Given the description of an element on the screen output the (x, y) to click on. 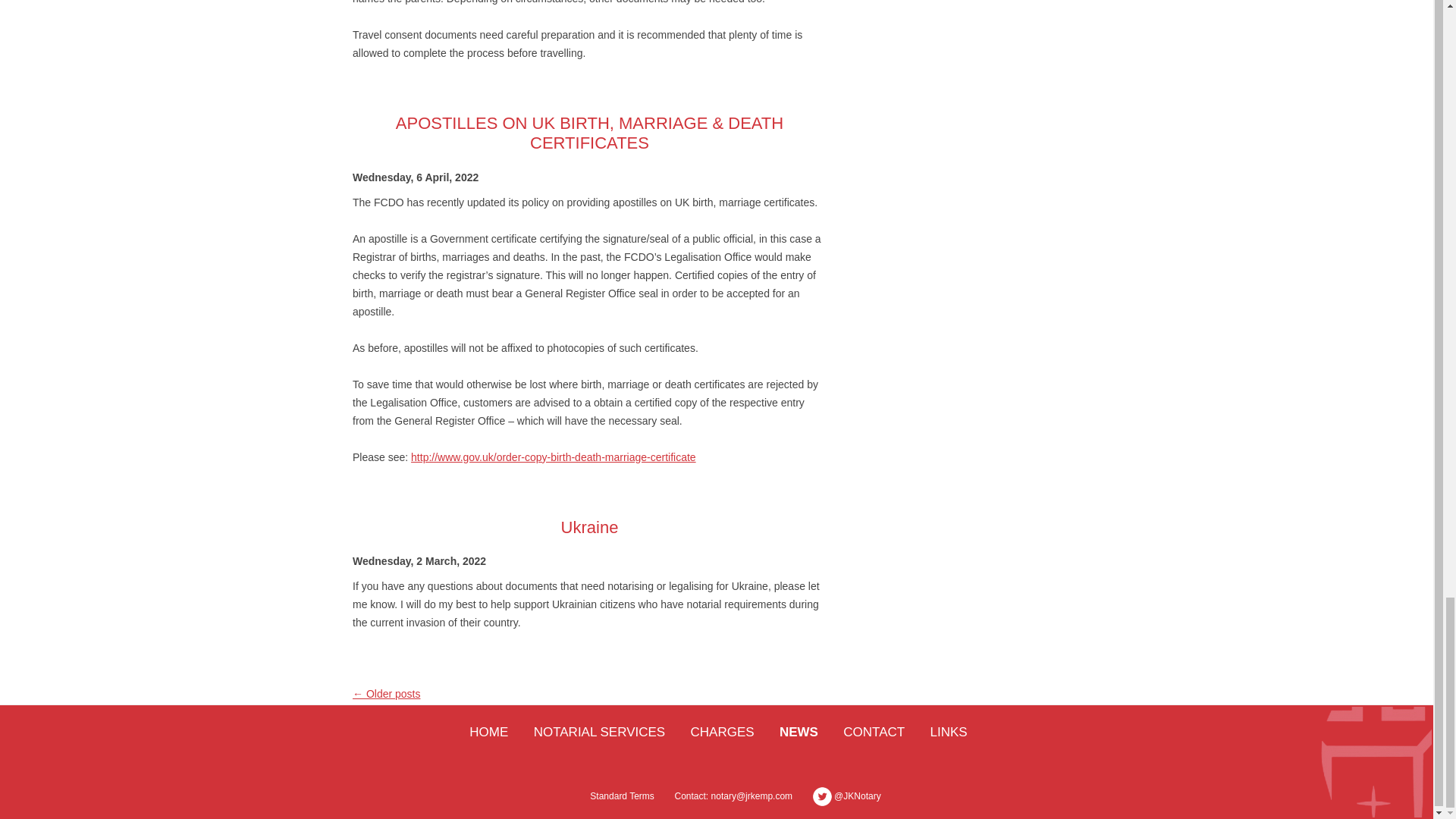
Permalink to Ukraine (589, 527)
Ukraine (589, 527)
Skip to content (754, 732)
